Given the description of an element on the screen output the (x, y) to click on. 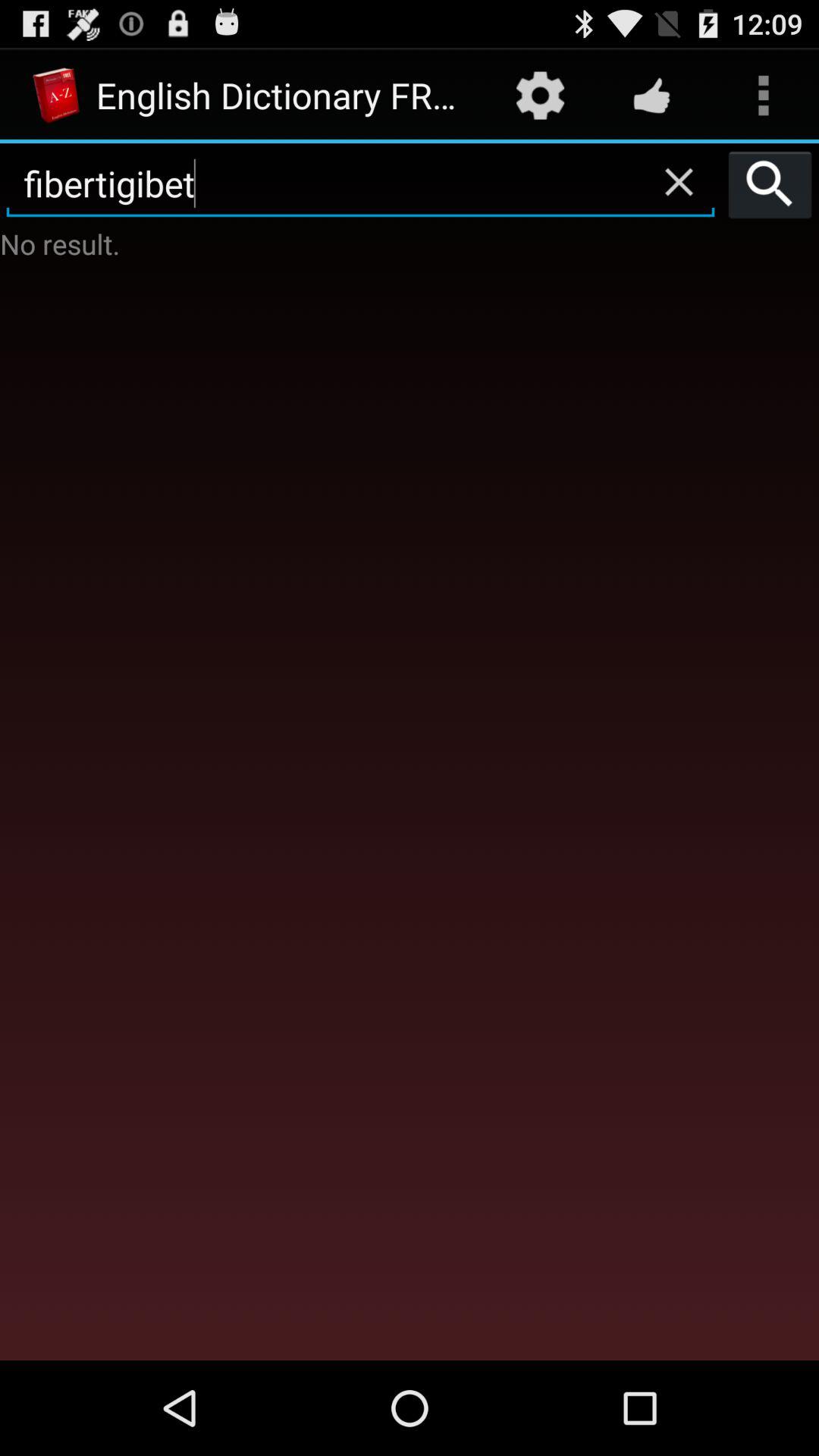
turn on the icon next to fibertigibet (770, 184)
